Given the description of an element on the screen output the (x, y) to click on. 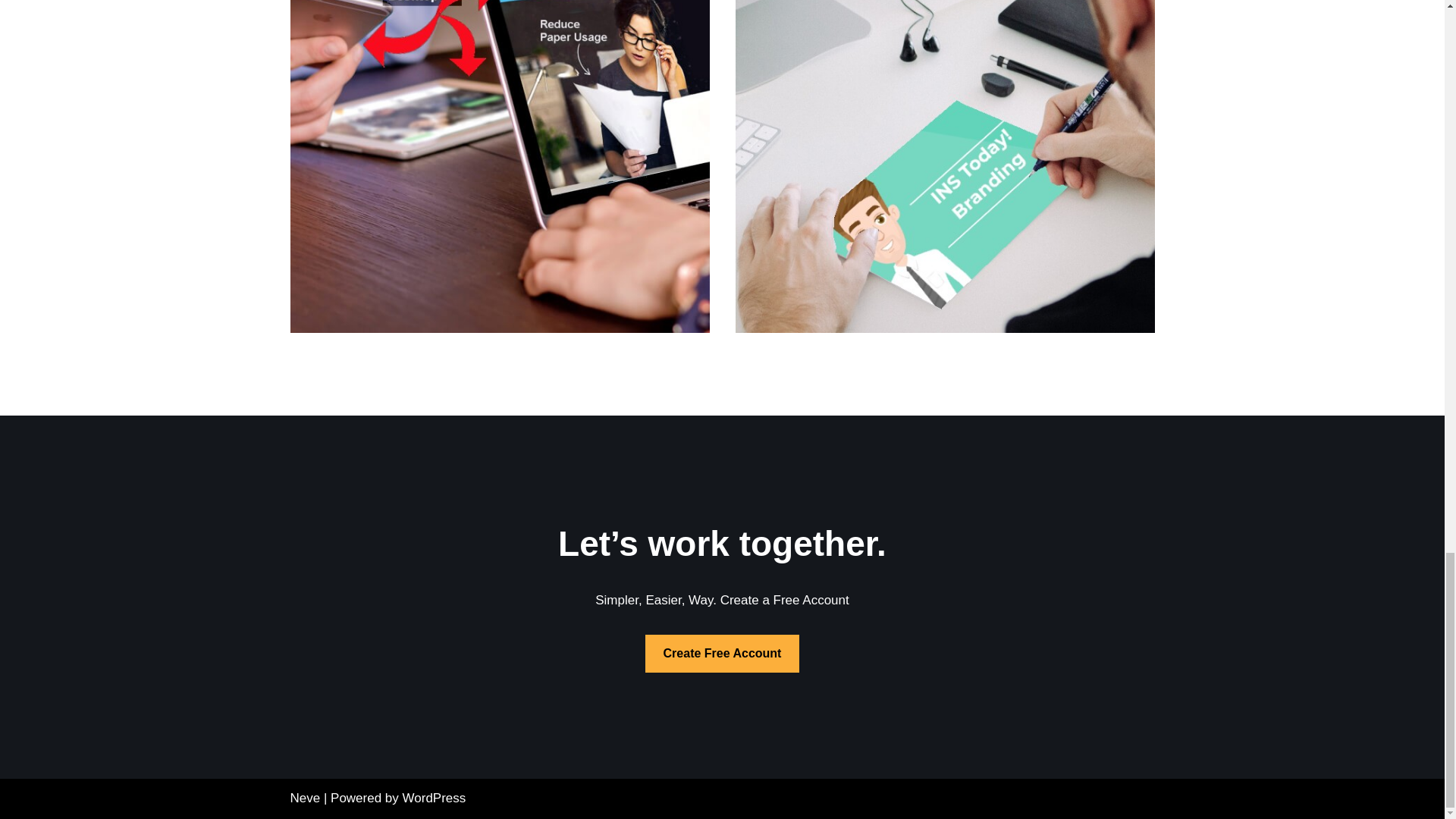
WordPress (434, 798)
Create Free Account (722, 653)
Neve (304, 798)
